Given the description of an element on the screen output the (x, y) to click on. 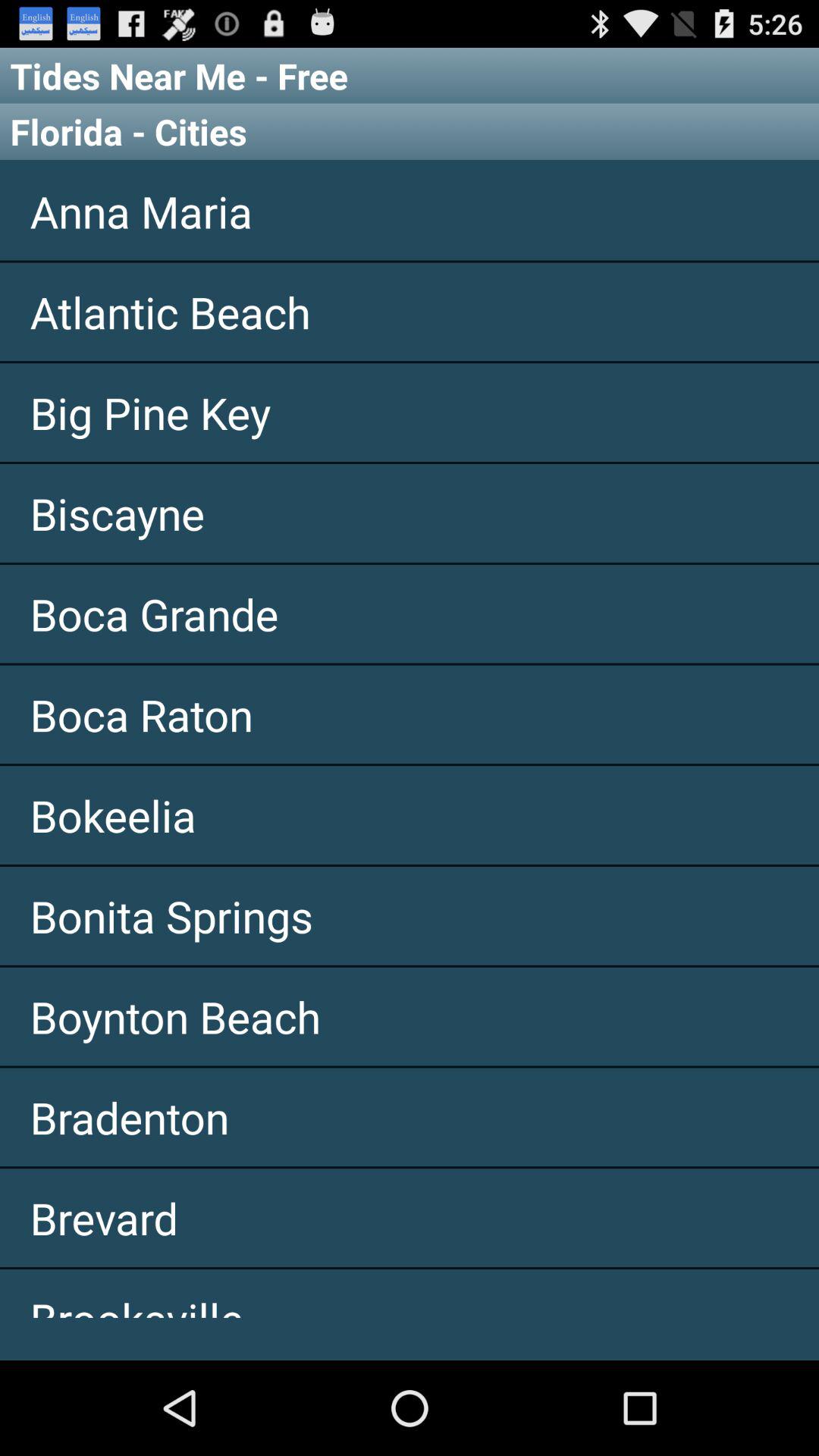
flip to the bradenton item (409, 1117)
